Given the description of an element on the screen output the (x, y) to click on. 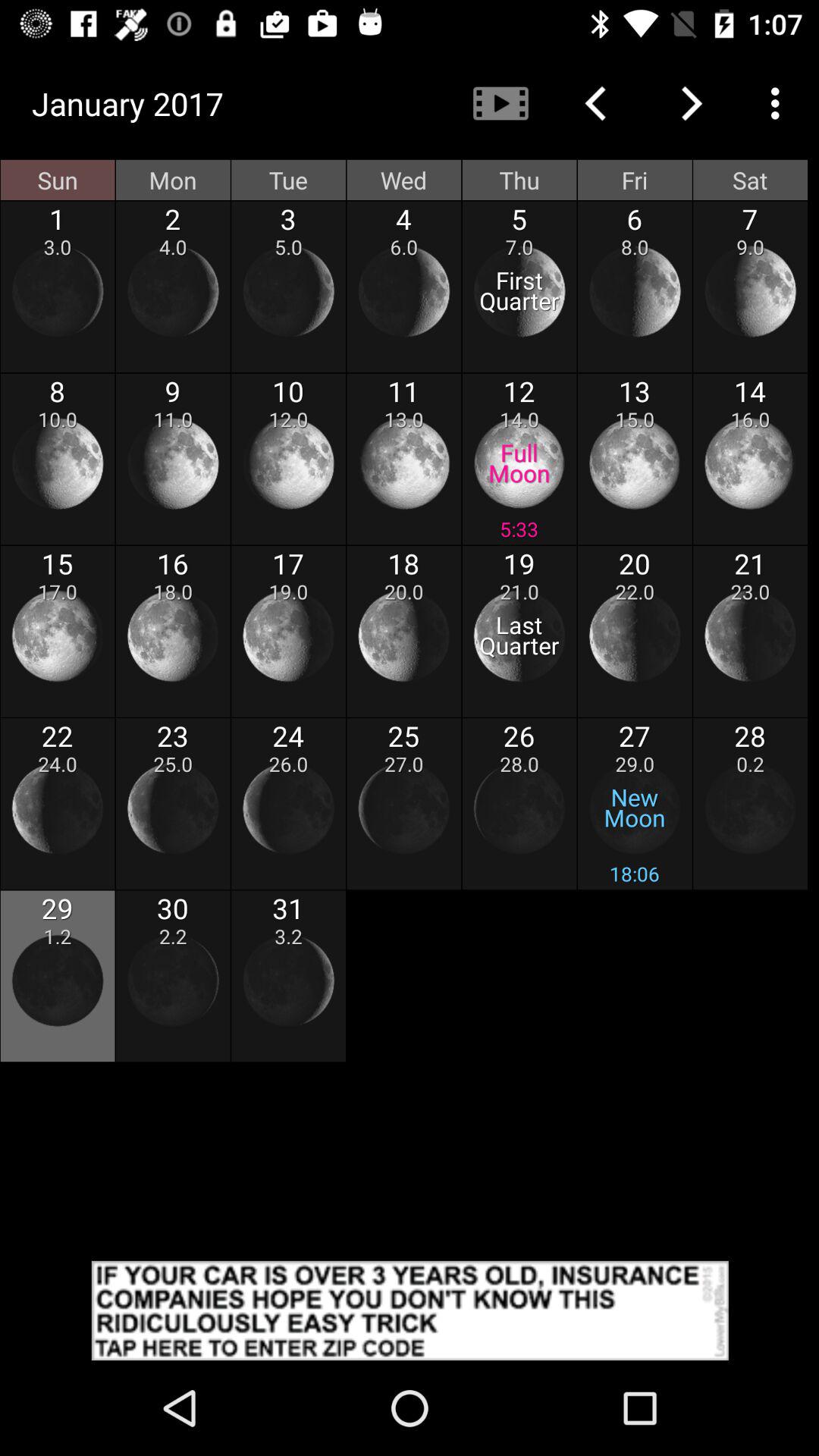
go to youtube (500, 103)
